Given the description of an element on the screen output the (x, y) to click on. 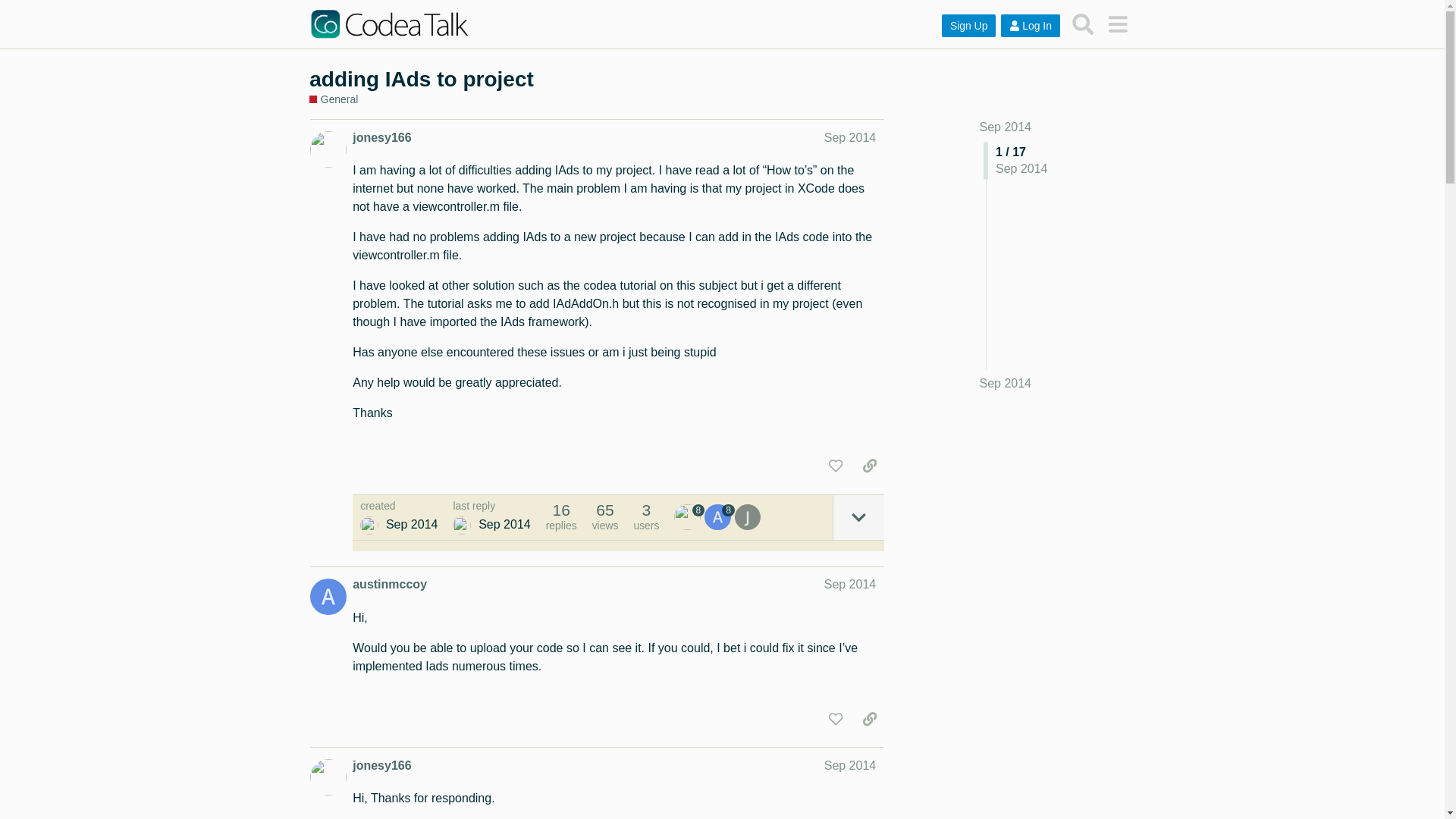
Search (1082, 23)
expand topic details (857, 517)
8 (719, 516)
Sep 2014 (1005, 126)
8 (689, 516)
Sign Up (968, 25)
last reply (490, 506)
Sep 2014 (1005, 383)
austinmccoy (389, 584)
Log In (1030, 25)
